Given the description of an element on the screen output the (x, y) to click on. 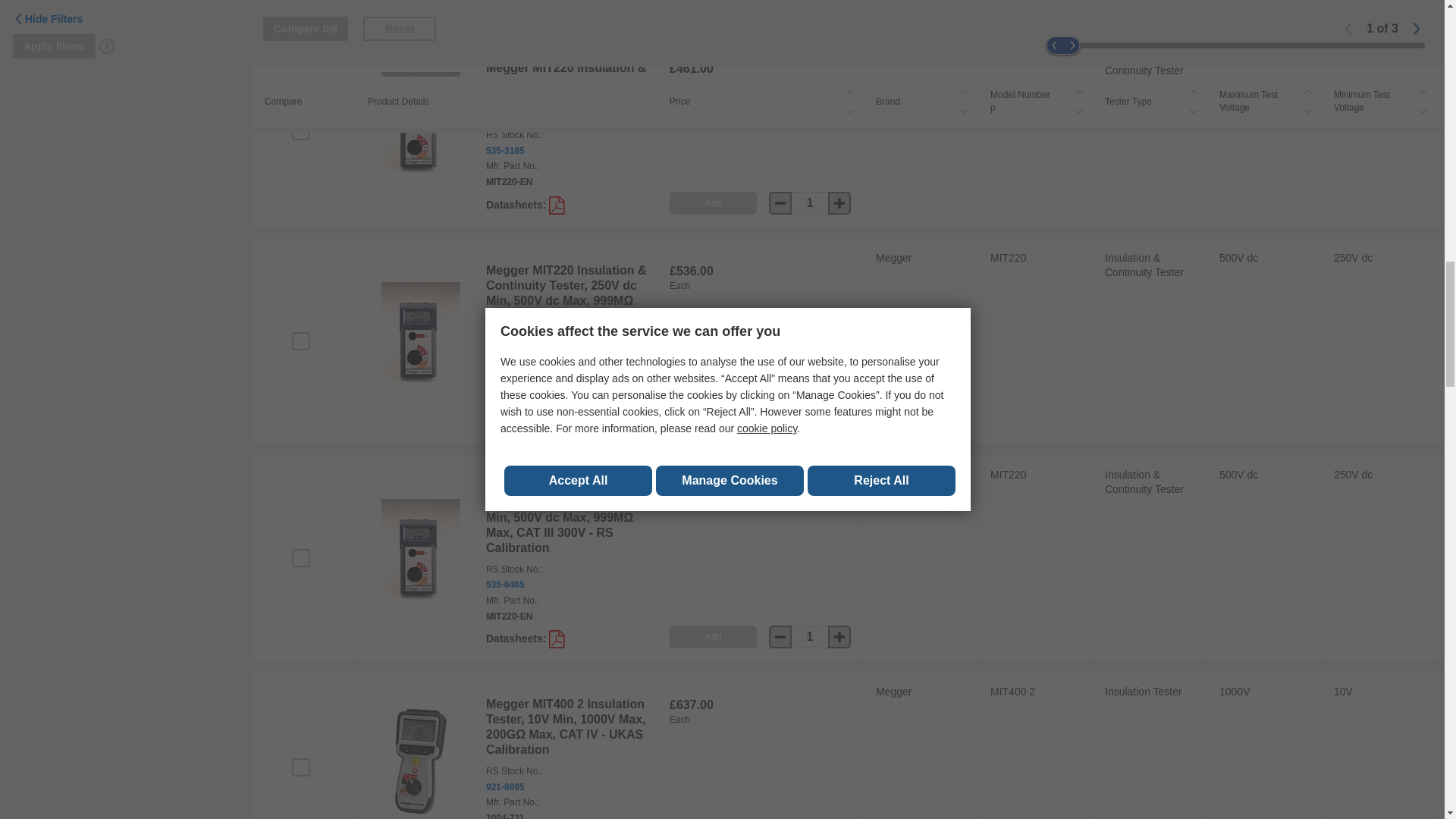
1 (810, 419)
1 (810, 6)
on (299, 341)
on (299, 131)
1 (810, 202)
1 (810, 636)
on (299, 557)
on (299, 767)
